Given the description of an element on the screen output the (x, y) to click on. 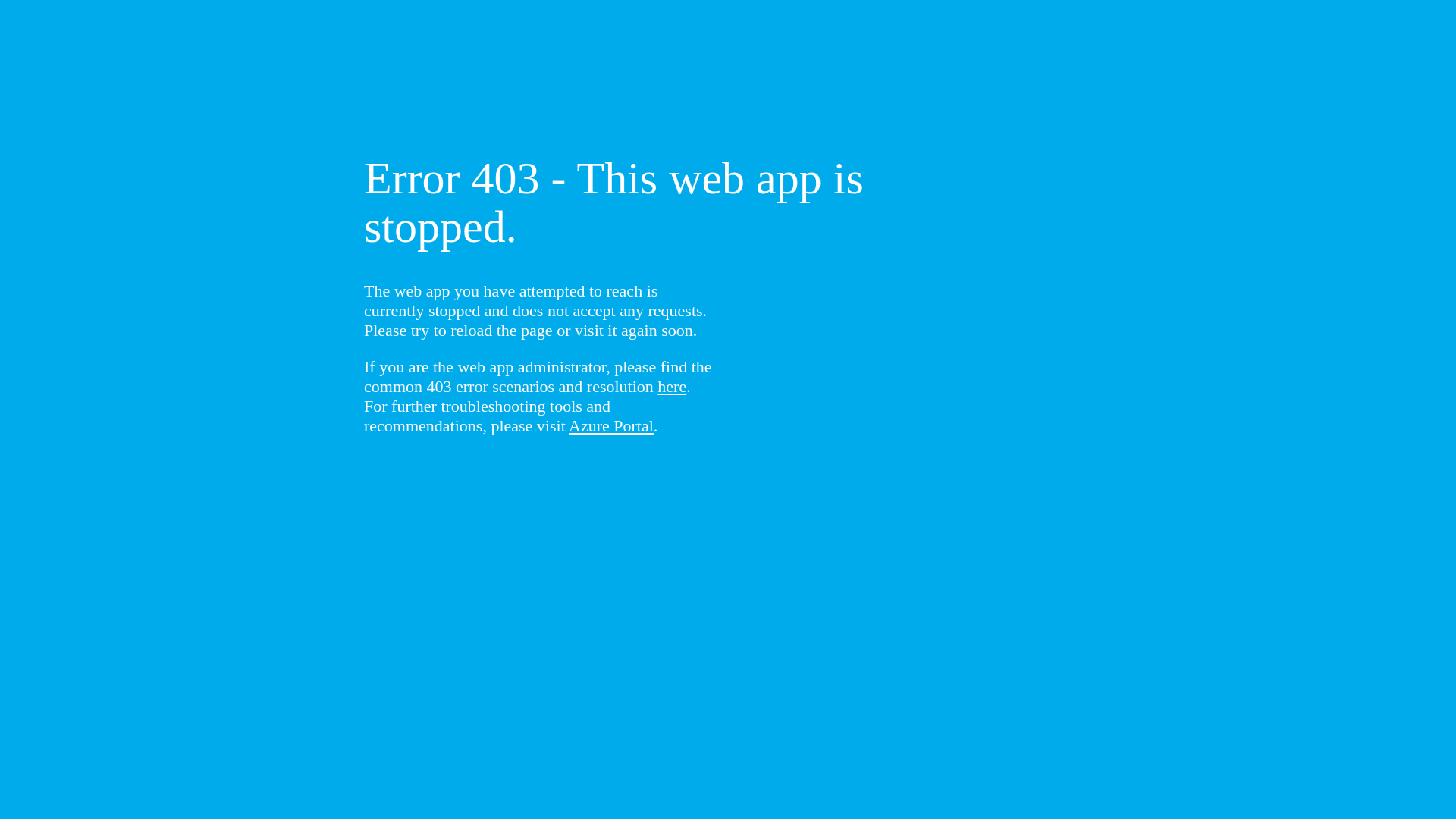
Azure Portal Element type: text (610, 425)
here Element type: text (671, 385)
